Given the description of an element on the screen output the (x, y) to click on. 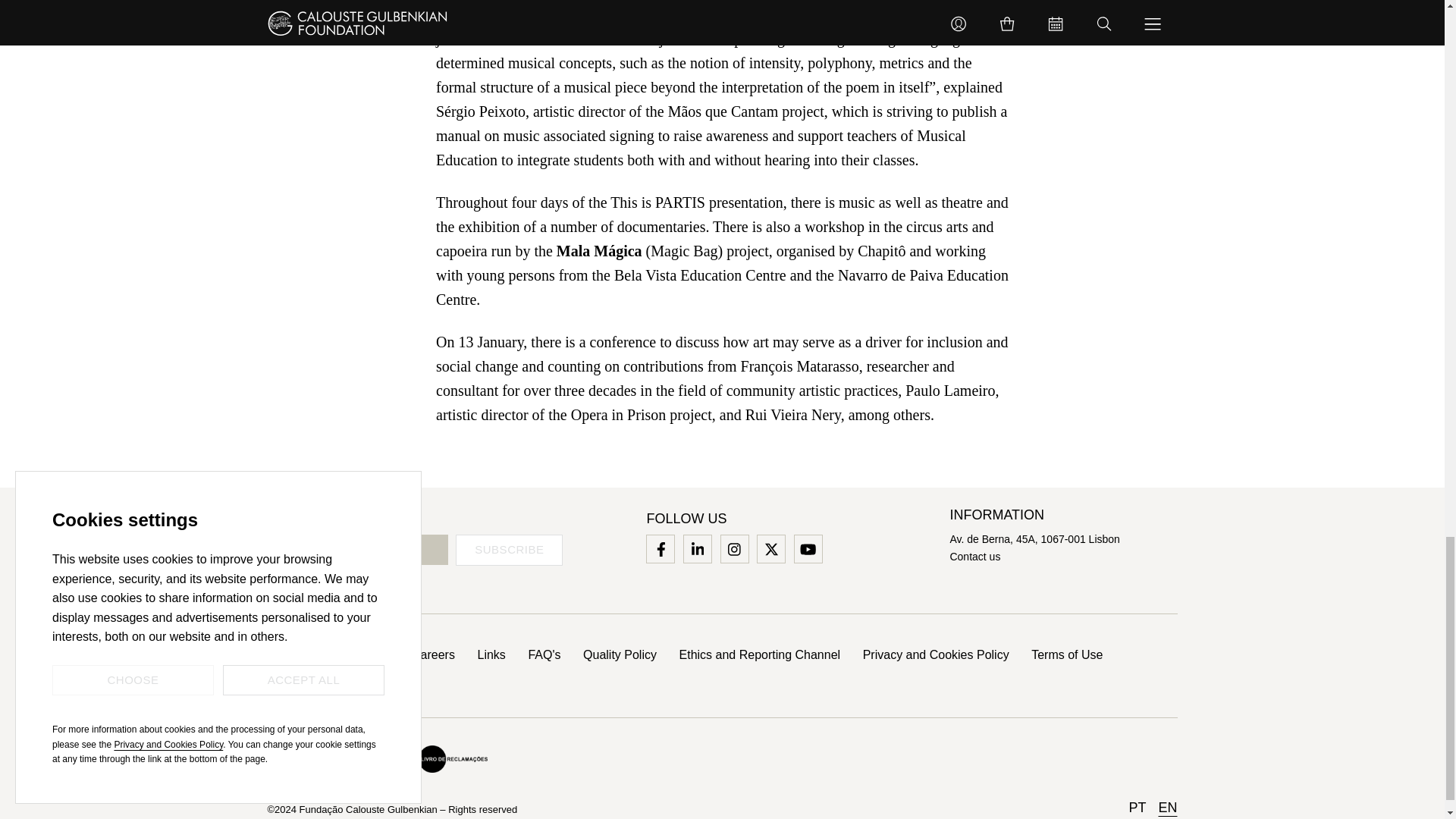
Creative Commons (307, 758)
Twitter (770, 548)
Google Maps (1034, 539)
LinkedIn (697, 548)
Facebook (660, 548)
Youtube (808, 548)
Instagram (734, 548)
